Given the description of an element on the screen output the (x, y) to click on. 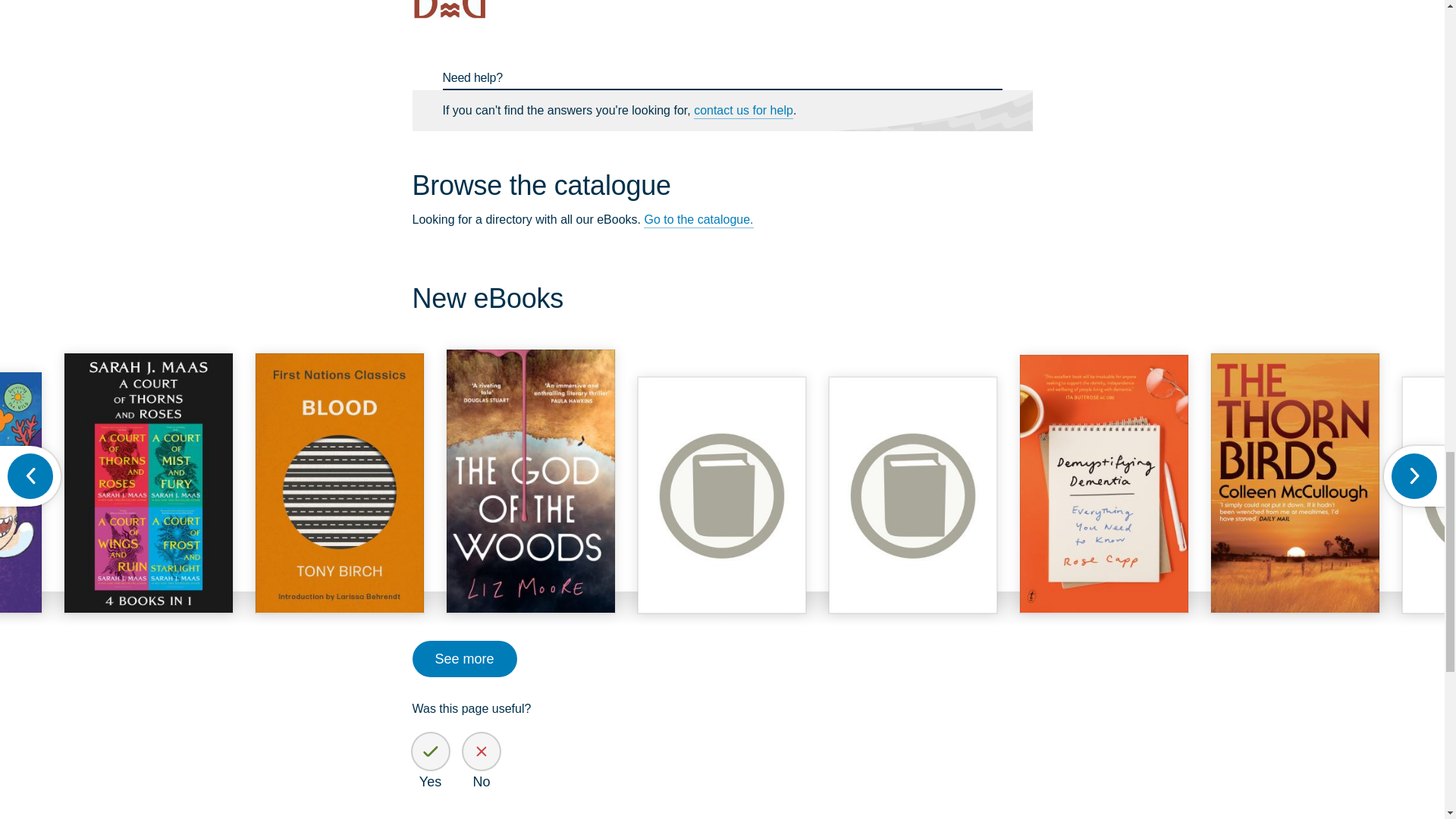
See all eBooks in the Auckland Council Libraries catalogue. (697, 220)
Contact us for help. (743, 111)
Moon Knight. Volume 1, The midnight mission  by Jed MacKay (721, 494)
